Given the description of an element on the screen output the (x, y) to click on. 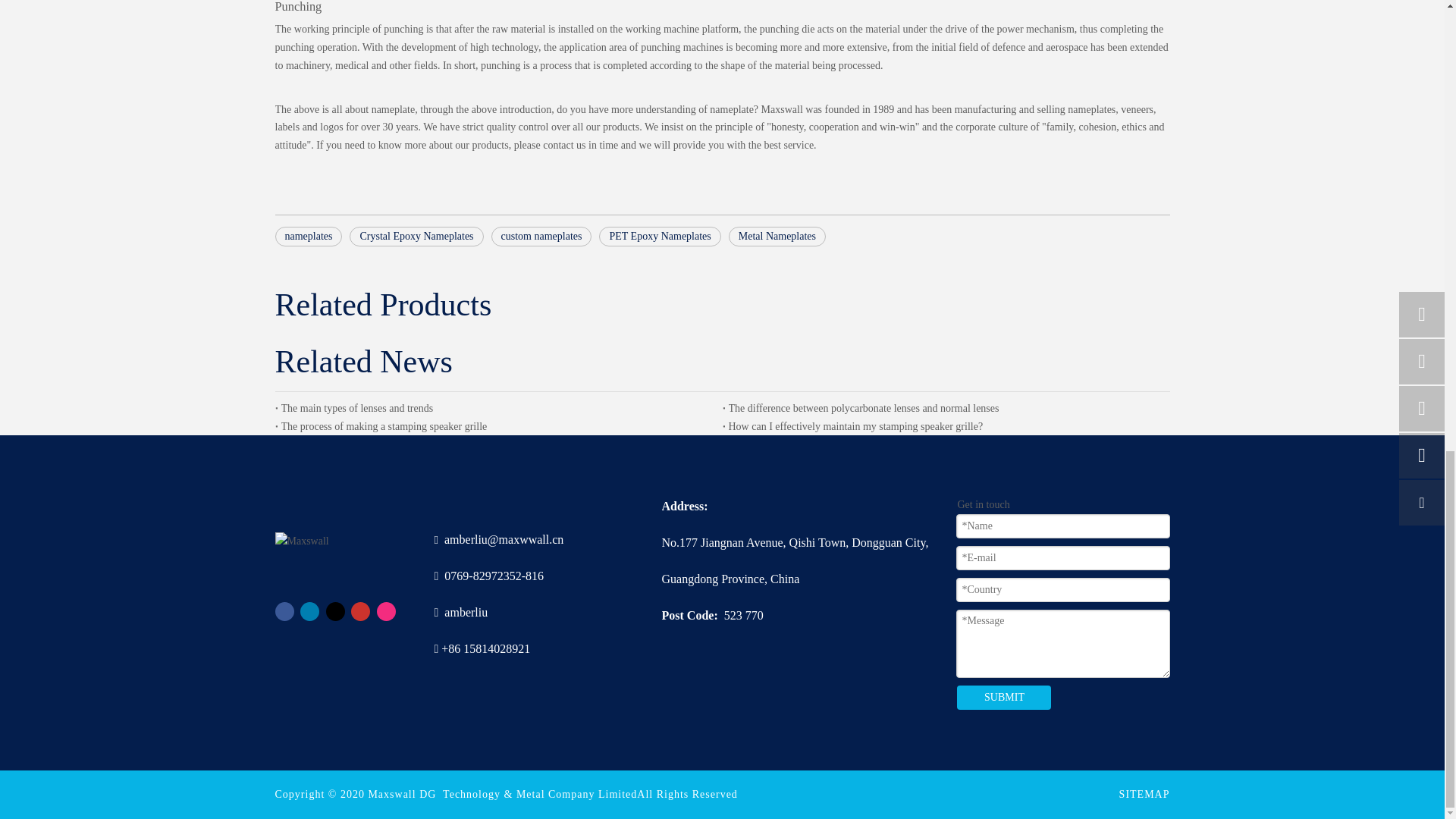
PET Epoxy Nameplates (659, 236)
Linkedin (308, 610)
The process of making a stamping speaker grille (498, 426)
How can I effectively maintain my stamping speaker grille? (945, 426)
The main types of lenses and trends (498, 408)
Crystal Epoxy Nameplates (416, 236)
Facebook (284, 610)
custom nameplates (542, 236)
Twitter (335, 610)
Metal Nameplates (777, 236)
nameplates (308, 236)
Maxswall (302, 541)
